Given the description of an element on the screen output the (x, y) to click on. 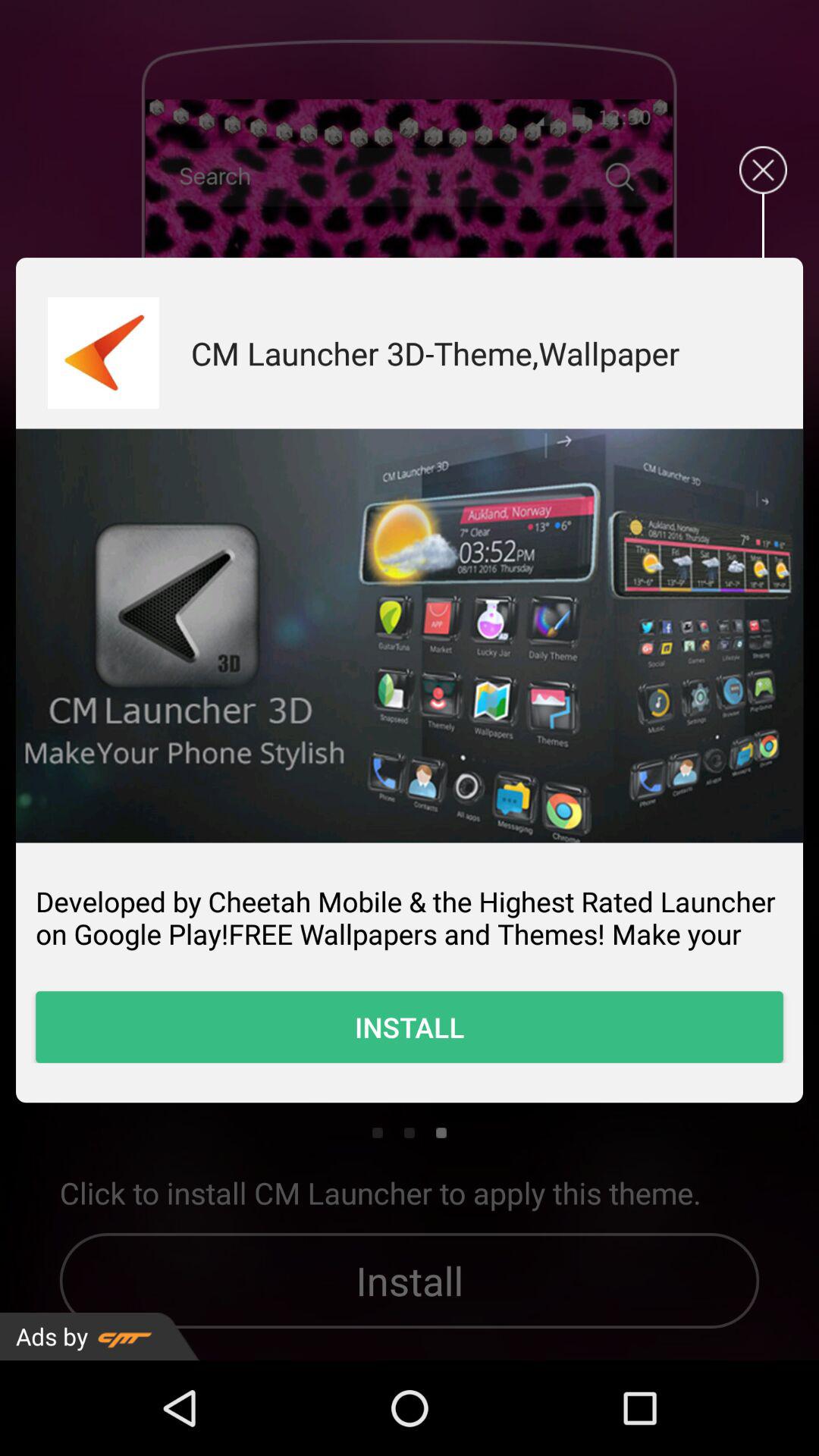
shows companys symbol icon (103, 352)
